Given the description of an element on the screen output the (x, y) to click on. 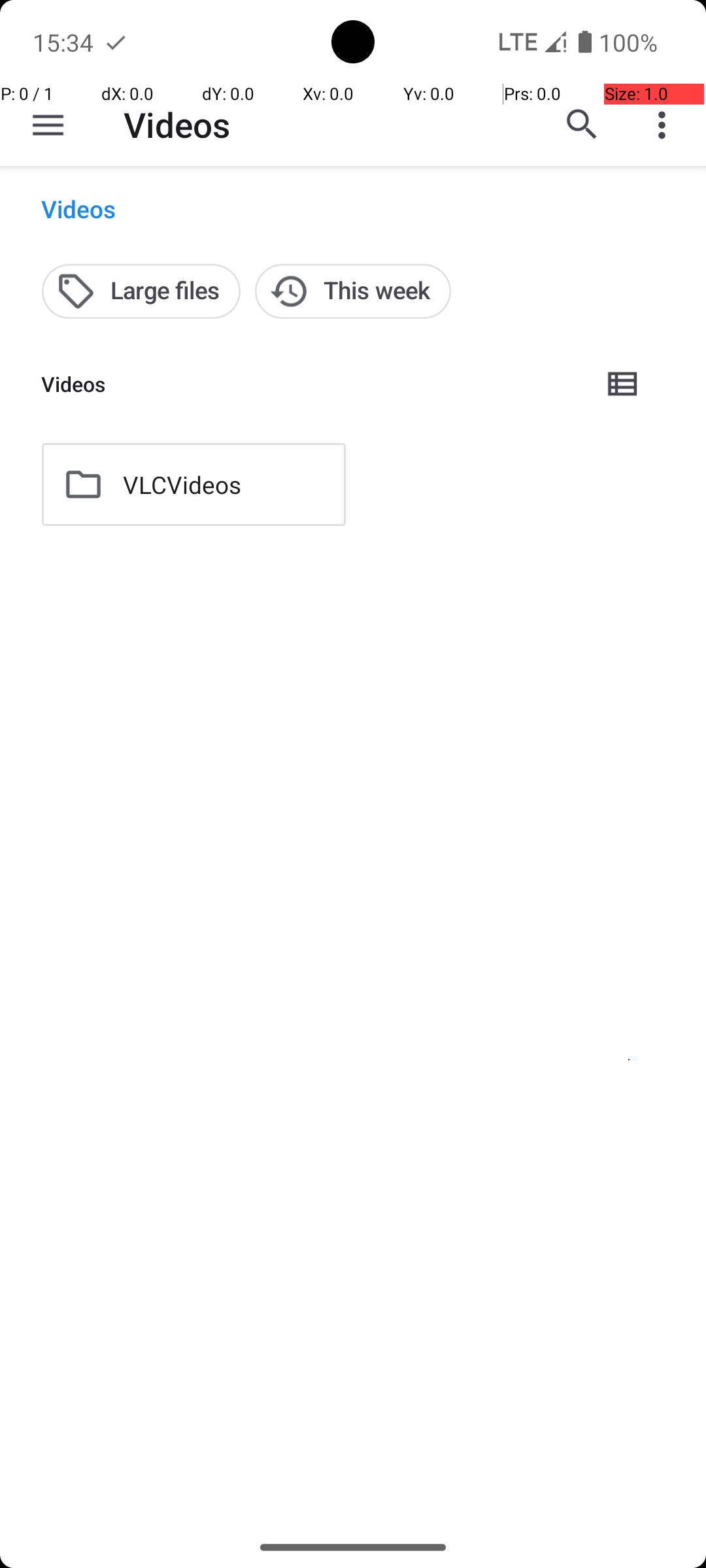
VLCVideos Element type: android.widget.TextView (181, 484)
